Given the description of an element on the screen output the (x, y) to click on. 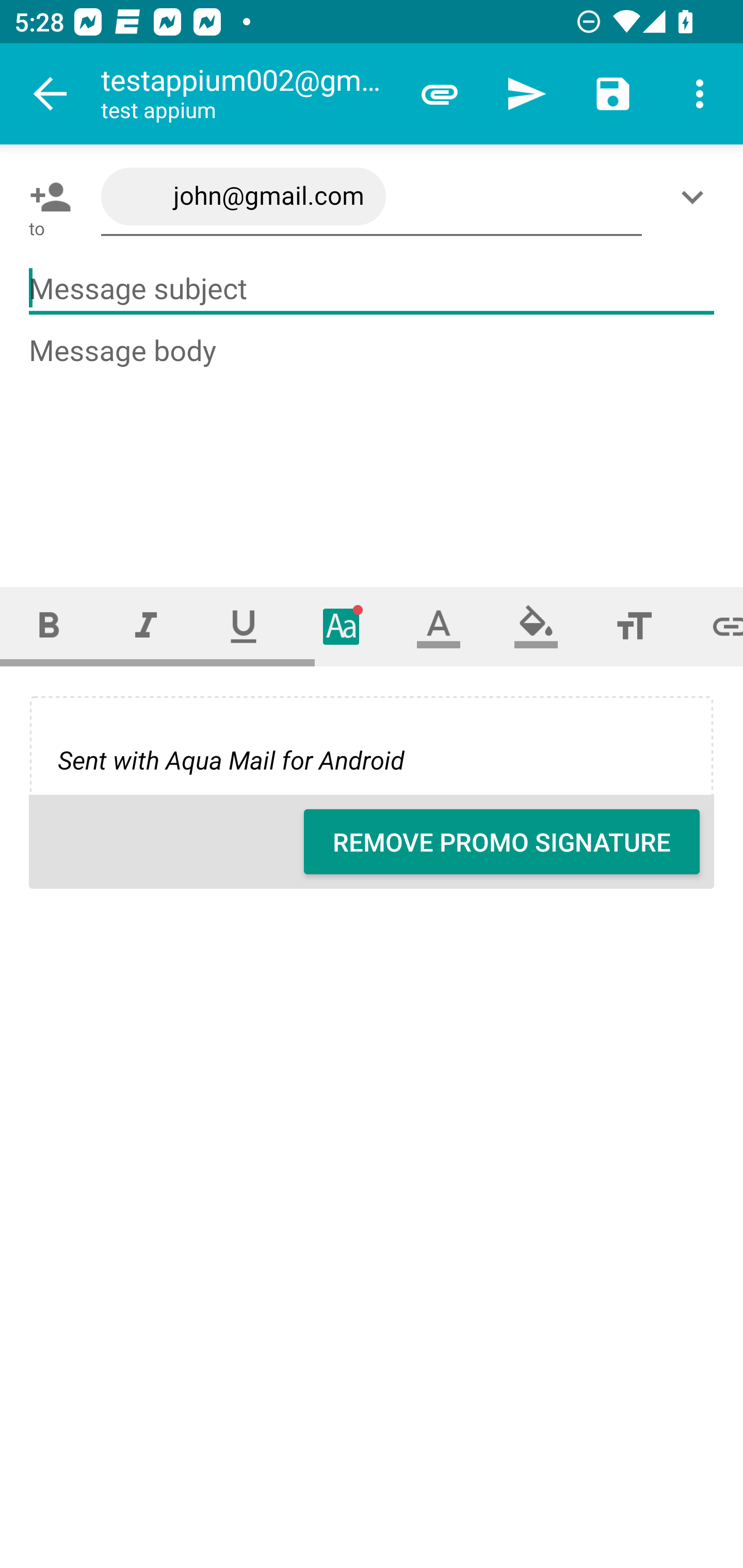
Navigate up (50, 93)
testappium002@gmail.com test appium (248, 93)
Attach (439, 93)
Send (525, 93)
Save (612, 93)
More options (699, 93)
john@gmail.com,  (371, 197)
Pick contact: To (46, 196)
Show/Add CC/BCC (696, 196)
Message subject (371, 288)
Message body (372, 442)
Bold (48, 626)
Italic (145, 626)
Underline (243, 626)
Typeface (font) (341, 626)
Text color (438, 626)
Fill color (536, 626)
Font size (633, 626)
Set link (712, 626)
REMOVE PROMO SIGNATURE (501, 841)
